Given the description of an element on the screen output the (x, y) to click on. 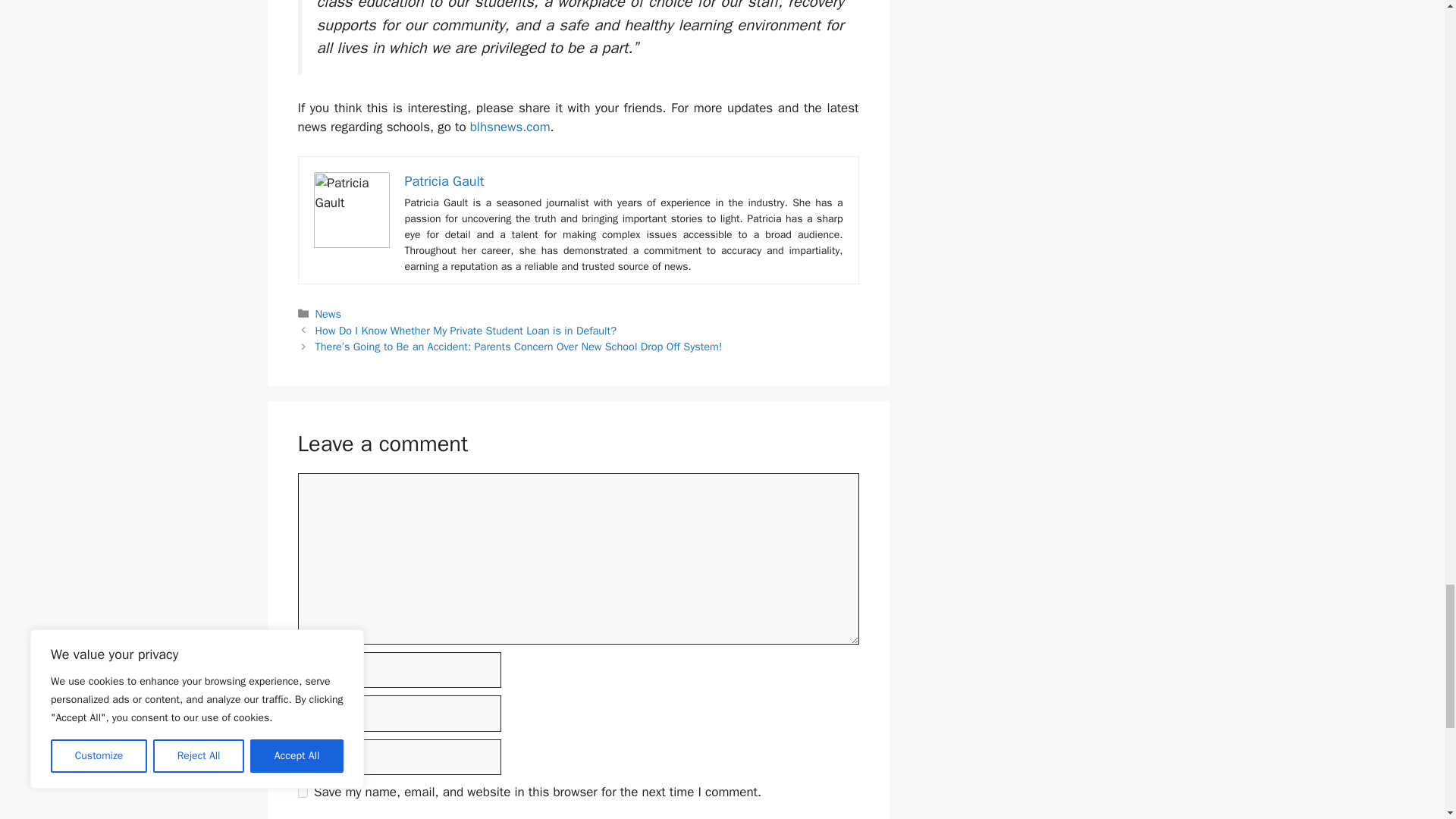
blhsnews.com (510, 126)
yes (302, 792)
News (327, 314)
Patricia Gault (444, 180)
How Do I Know Whether My Private Student Loan is in Default? (465, 330)
